Given the description of an element on the screen output the (x, y) to click on. 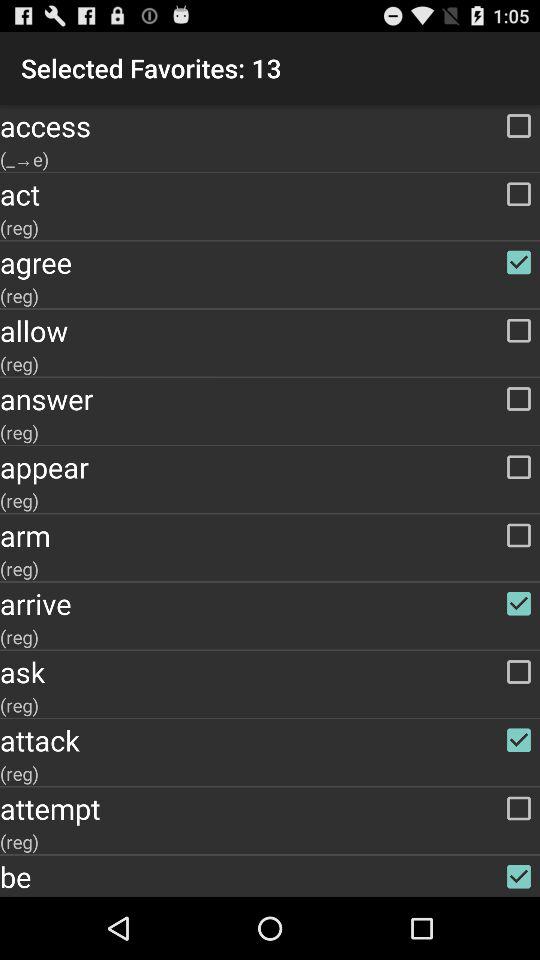
open the item below access checkbox (270, 159)
